Given the description of an element on the screen output the (x, y) to click on. 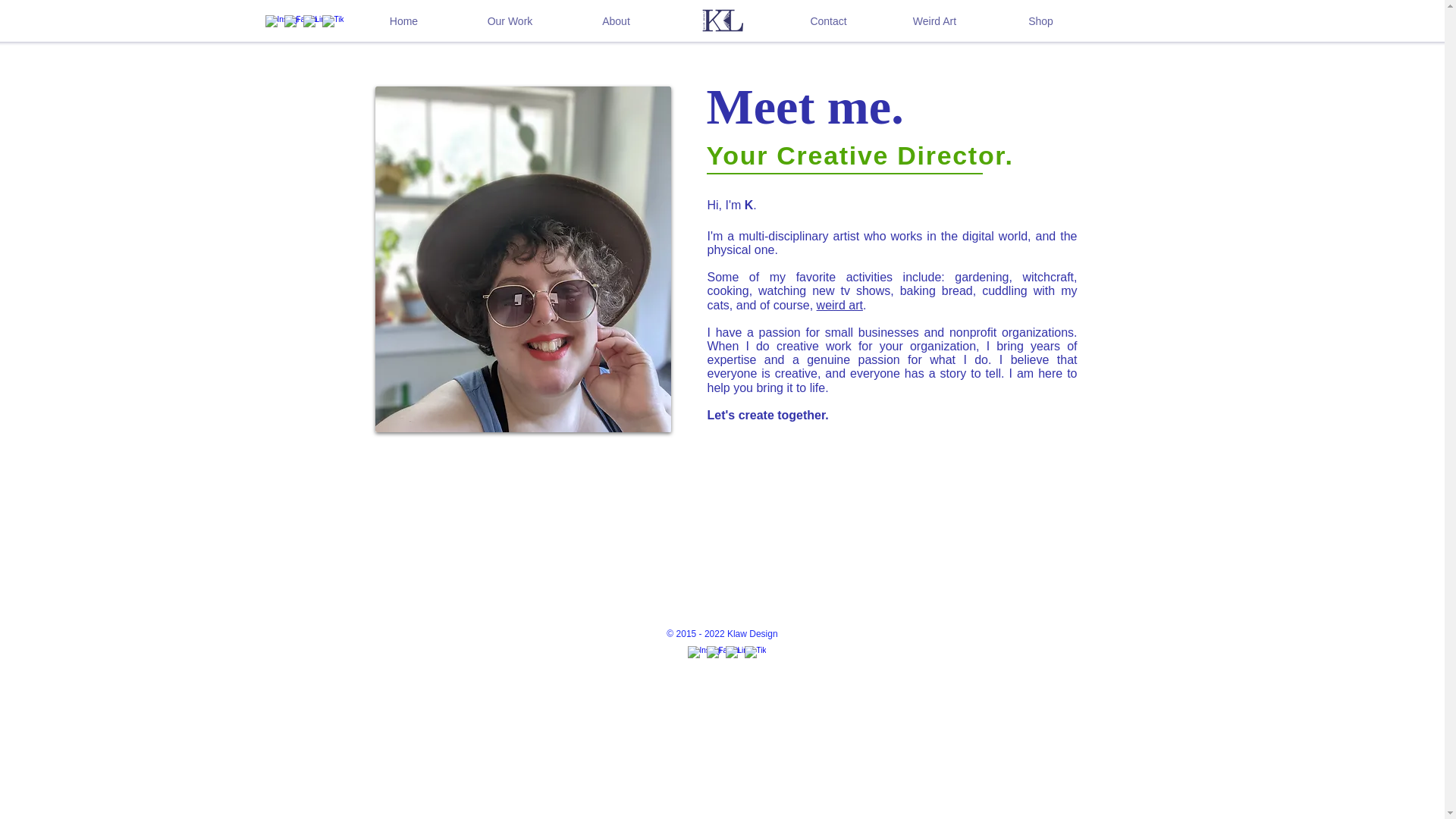
Home (403, 21)
Contact (827, 21)
Shop (1040, 21)
Weird Art (933, 21)
B (721, 21)
Our Work (509, 21)
weird art (839, 305)
About (615, 21)
